Given the description of an element on the screen output the (x, y) to click on. 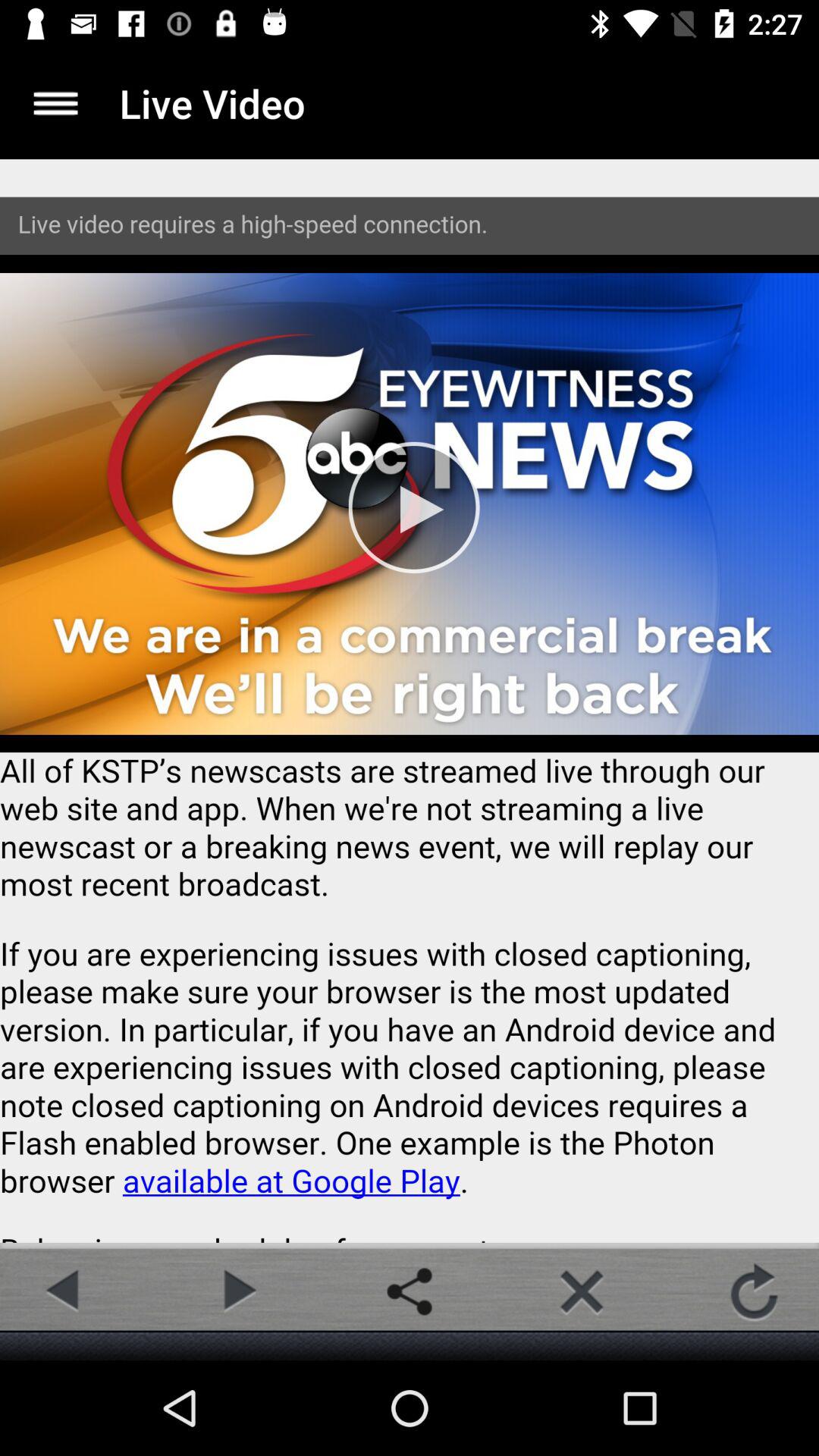
full page (409, 700)
